Given the description of an element on the screen output the (x, y) to click on. 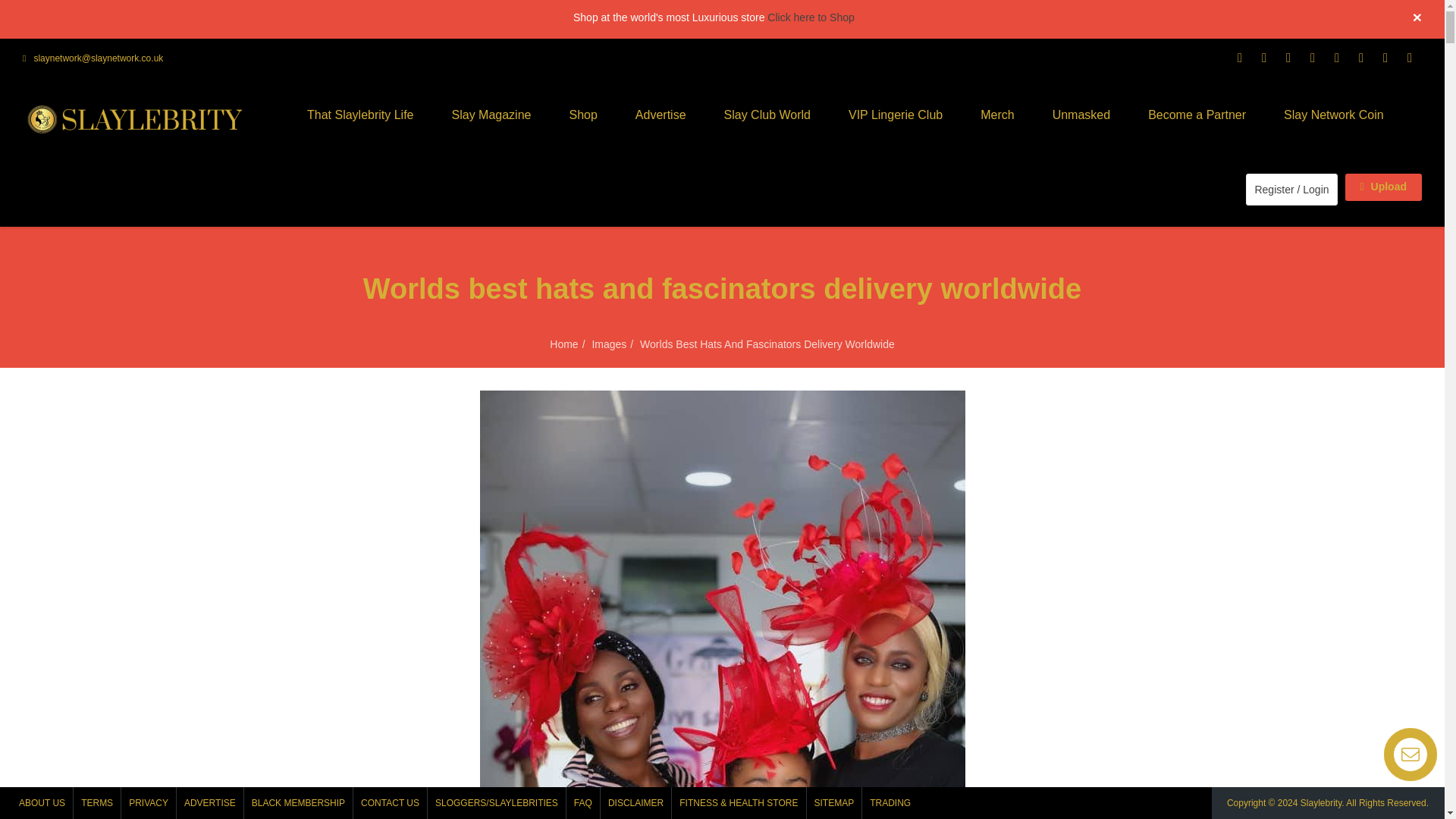
VIP Lingerie Club (894, 114)
Images (608, 344)
Merch (996, 114)
Home (564, 344)
Worlds Best Hats And Fascinators Delivery Worldwide (767, 344)
Become a Partner (1197, 114)
Slay Magazine (491, 114)
Upload (1383, 186)
Shop (582, 114)
That Slaylebrity Life (360, 114)
Click here to Shop (810, 17)
Unmasked (1081, 114)
Slay Club World (766, 114)
Advertise (659, 114)
Slay Network Coin (1334, 114)
